Given the description of an element on the screen output the (x, y) to click on. 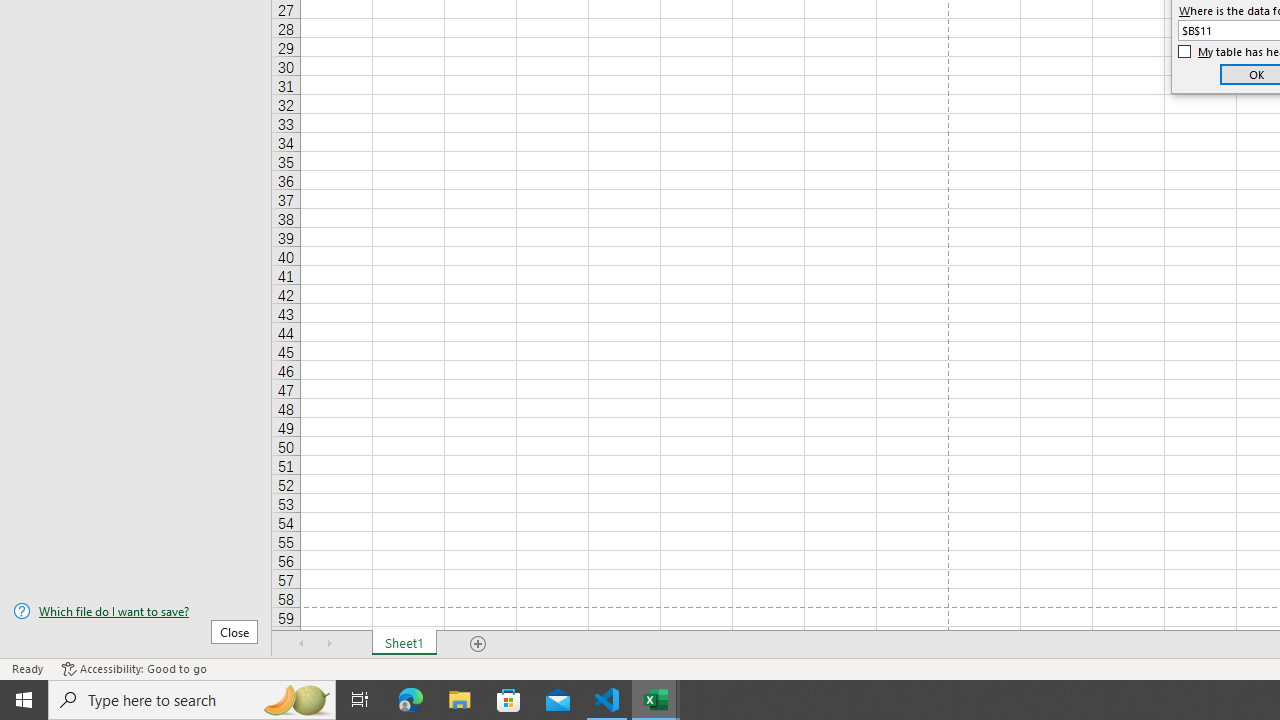
Which file do I want to save? (136, 611)
